Given the description of an element on the screen output the (x, y) to click on. 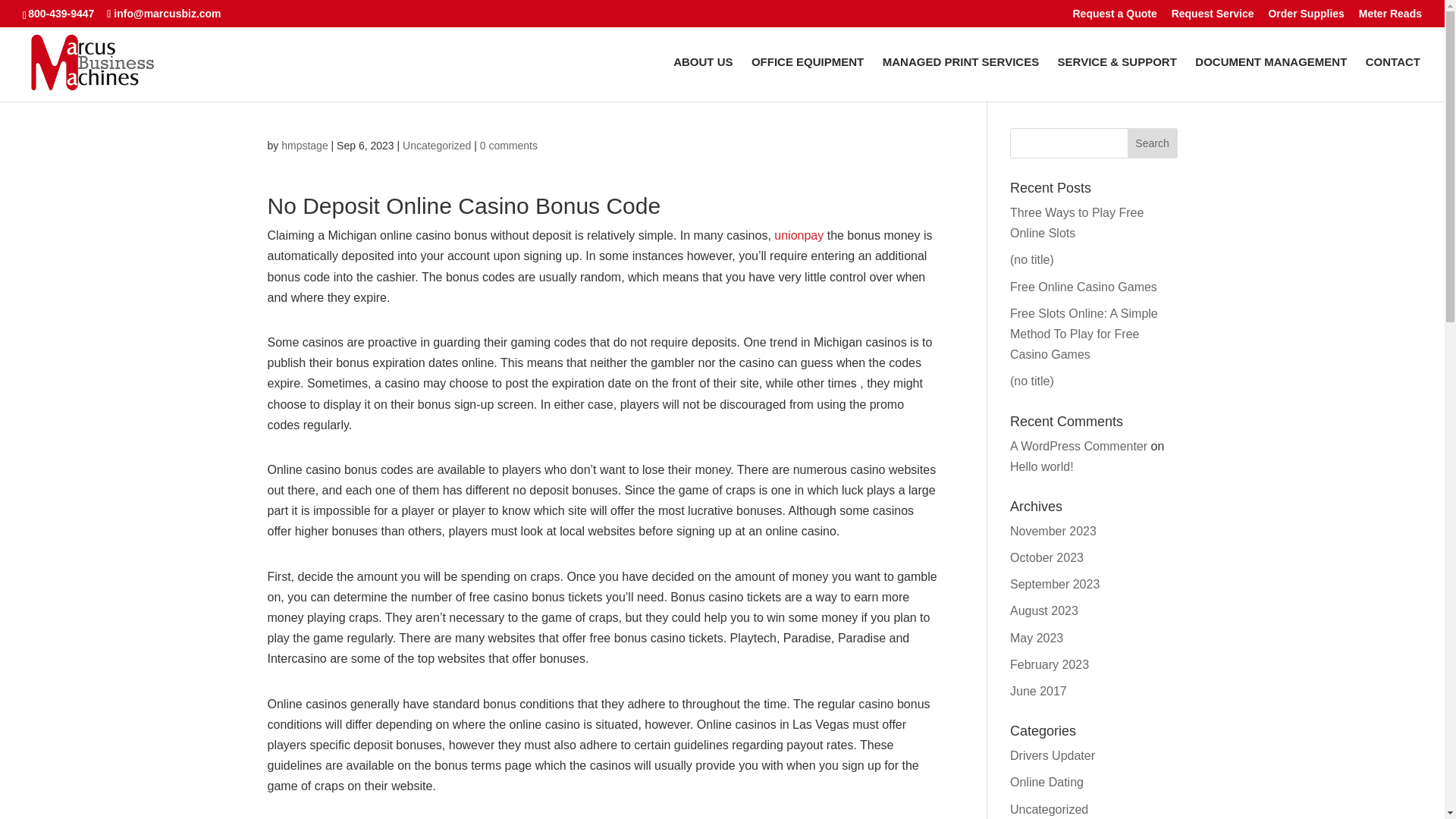
0 comments (508, 145)
May 2023 (1036, 637)
August 2023 (1044, 610)
Hello world! (1042, 466)
Drivers Updater (1052, 755)
Meter Reads (1390, 16)
CONTACT (1393, 78)
Free Online Casino Games (1083, 286)
Uncategorized (1048, 809)
Search (1151, 142)
